Given the description of an element on the screen output the (x, y) to click on. 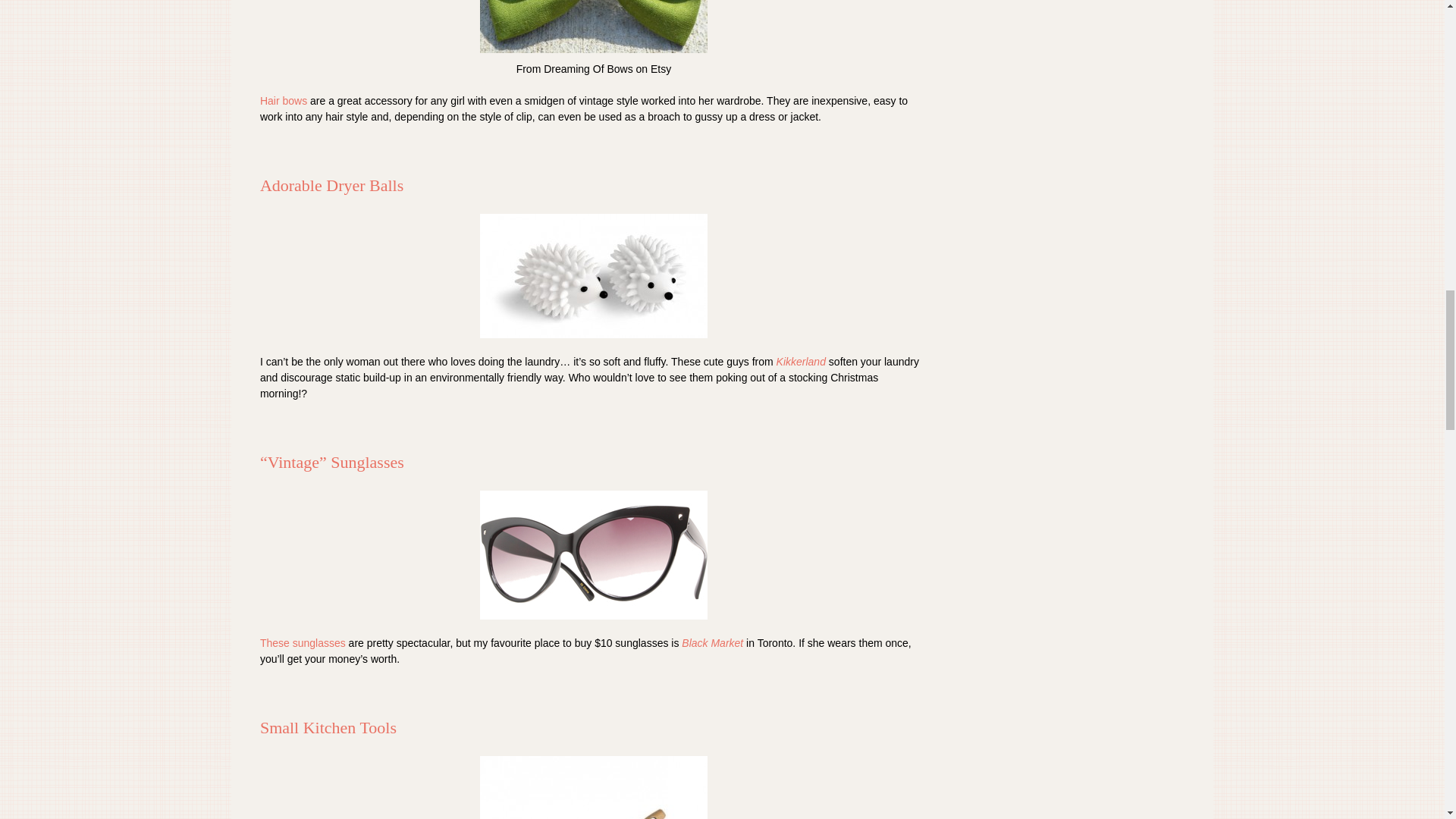
Hair bow (593, 26)
Black Market (711, 643)
sunglasses (593, 554)
Kikkerland (800, 361)
Honey Dipper (593, 787)
Hair bows (283, 101)
dryer balls (593, 275)
These sunglasses (303, 643)
